Given the description of an element on the screen output the (x, y) to click on. 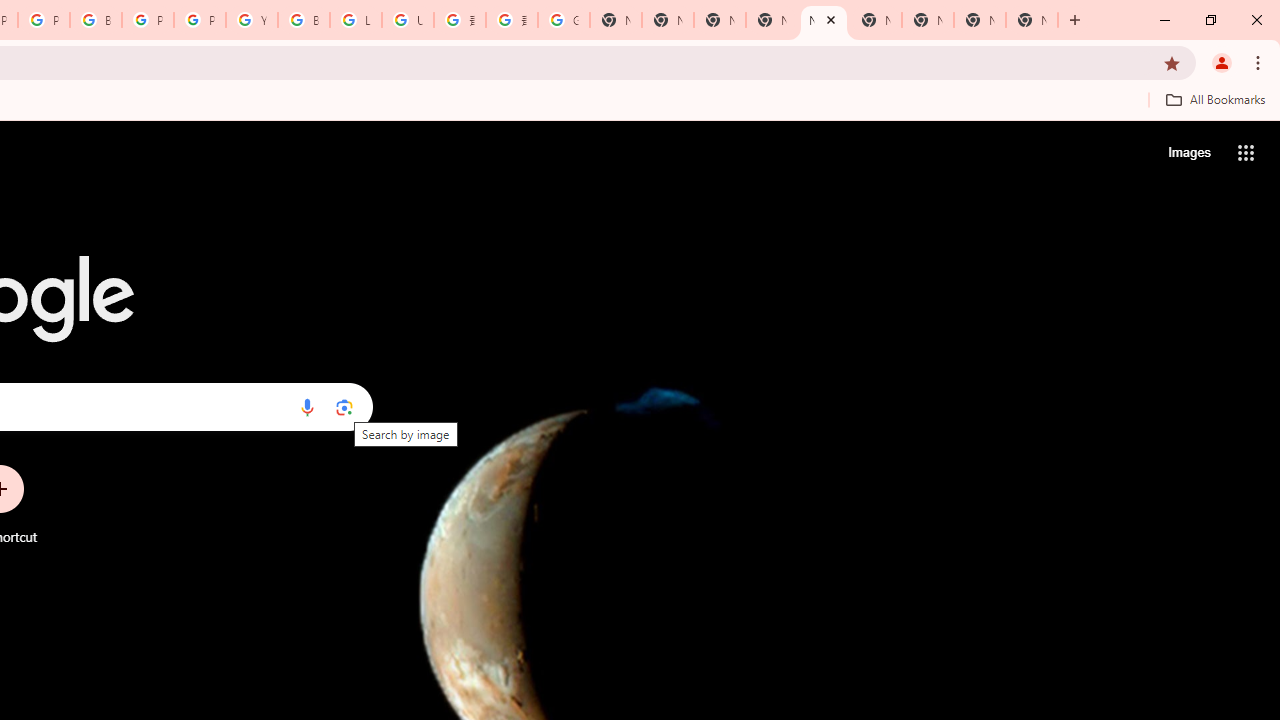
Browse Chrome as a guest - Computer - Google Chrome Help (303, 20)
Search by image (344, 407)
Search by voice (307, 407)
Search for Images  (1188, 152)
